Given the description of an element on the screen output the (x, y) to click on. 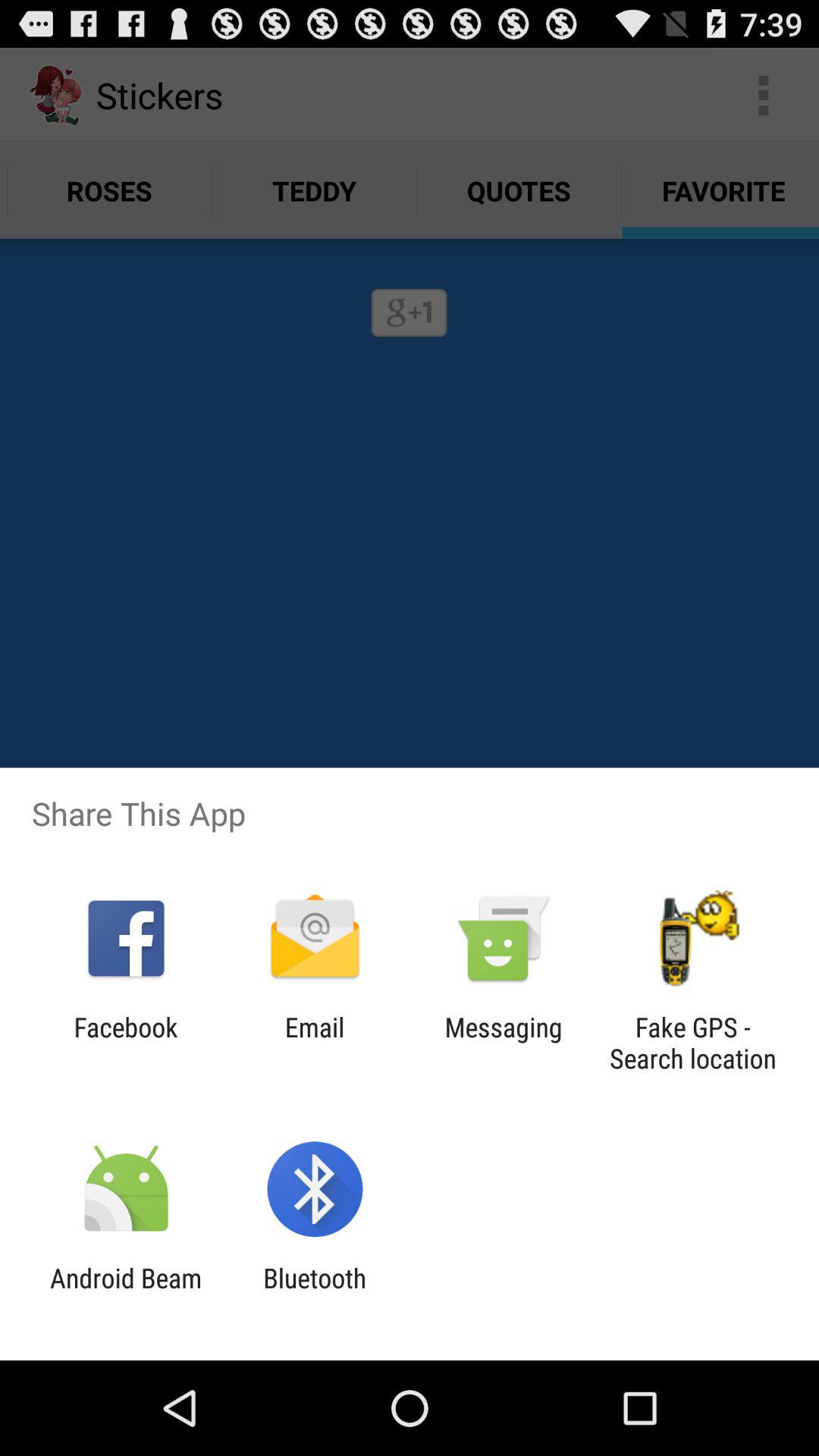
choose app next to messaging app (314, 1042)
